Given the description of an element on the screen output the (x, y) to click on. 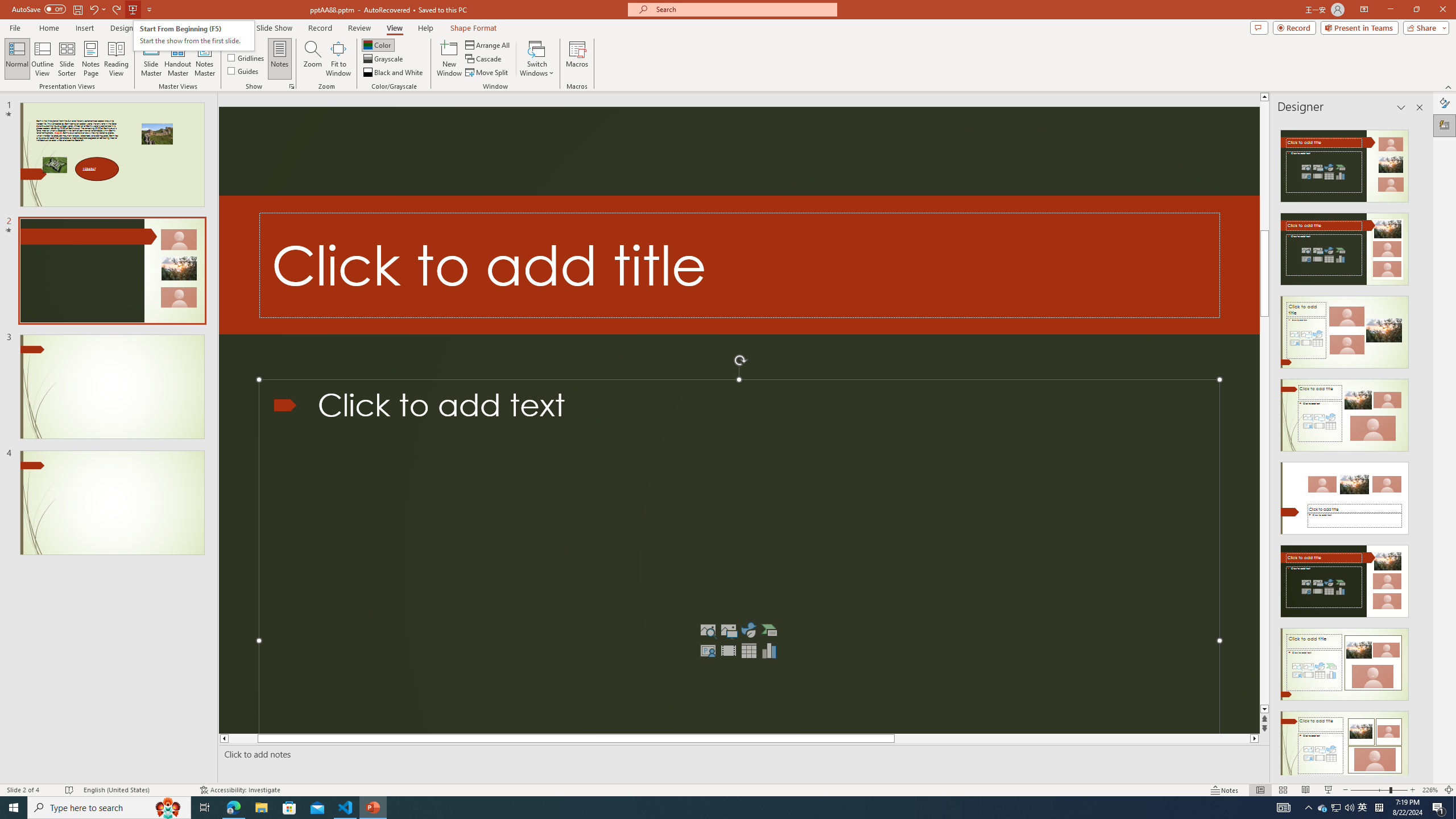
Switch Windows (537, 58)
Gridlines (246, 56)
Arrange All (488, 44)
Guides (243, 69)
